Given the description of an element on the screen output the (x, y) to click on. 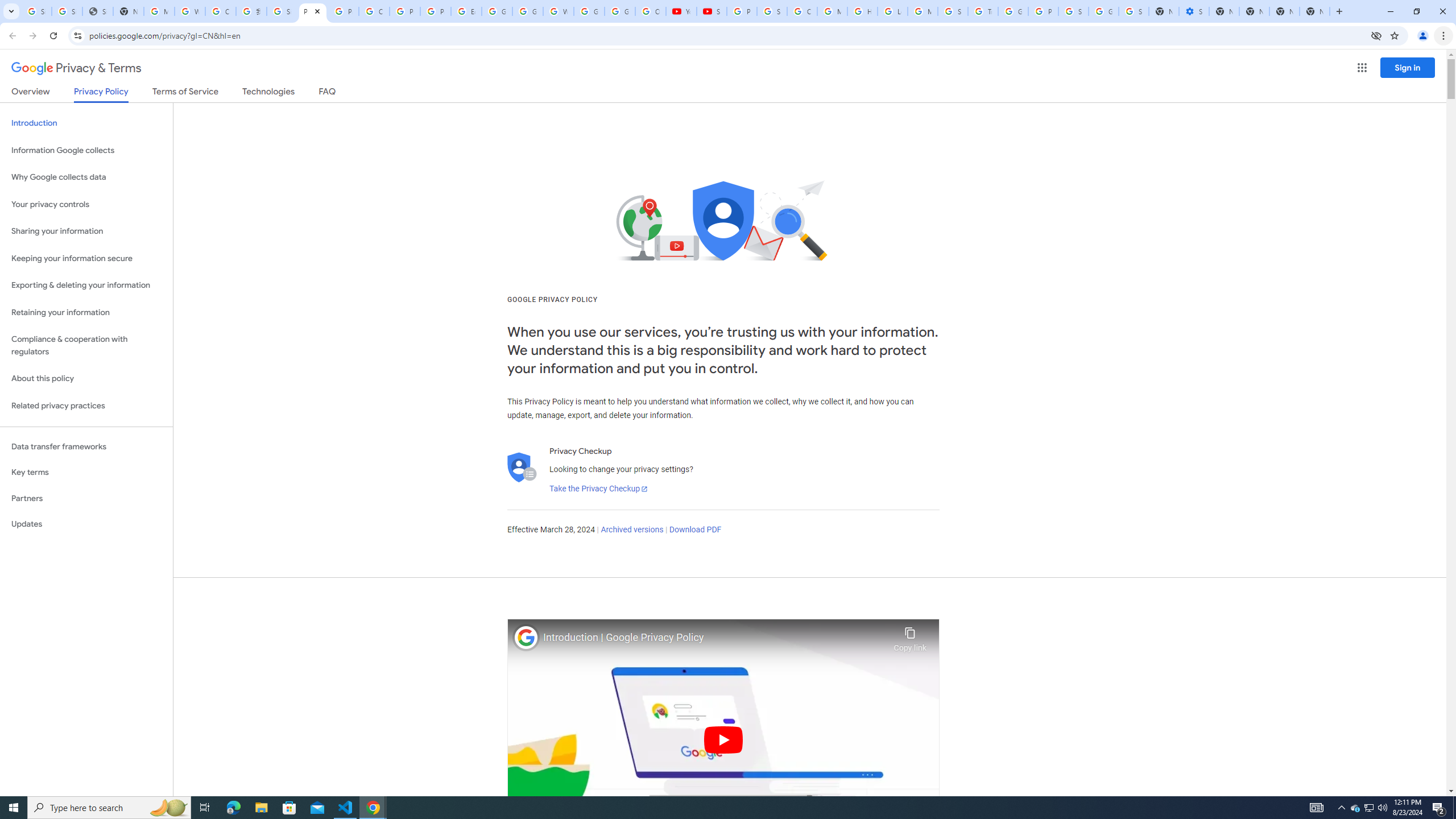
Sign in - Google Accounts (36, 11)
Photo image of Google (526, 636)
Sign In - USA TODAY (97, 11)
New Tab (1314, 11)
Terms of Service (184, 93)
Google Slides: Sign-in (496, 11)
Copy link (909, 636)
Key terms (86, 472)
Information Google collects (86, 150)
Technologies (268, 93)
About this policy (86, 379)
Third-party cookies blocked (1376, 35)
